Given the description of an element on the screen output the (x, y) to click on. 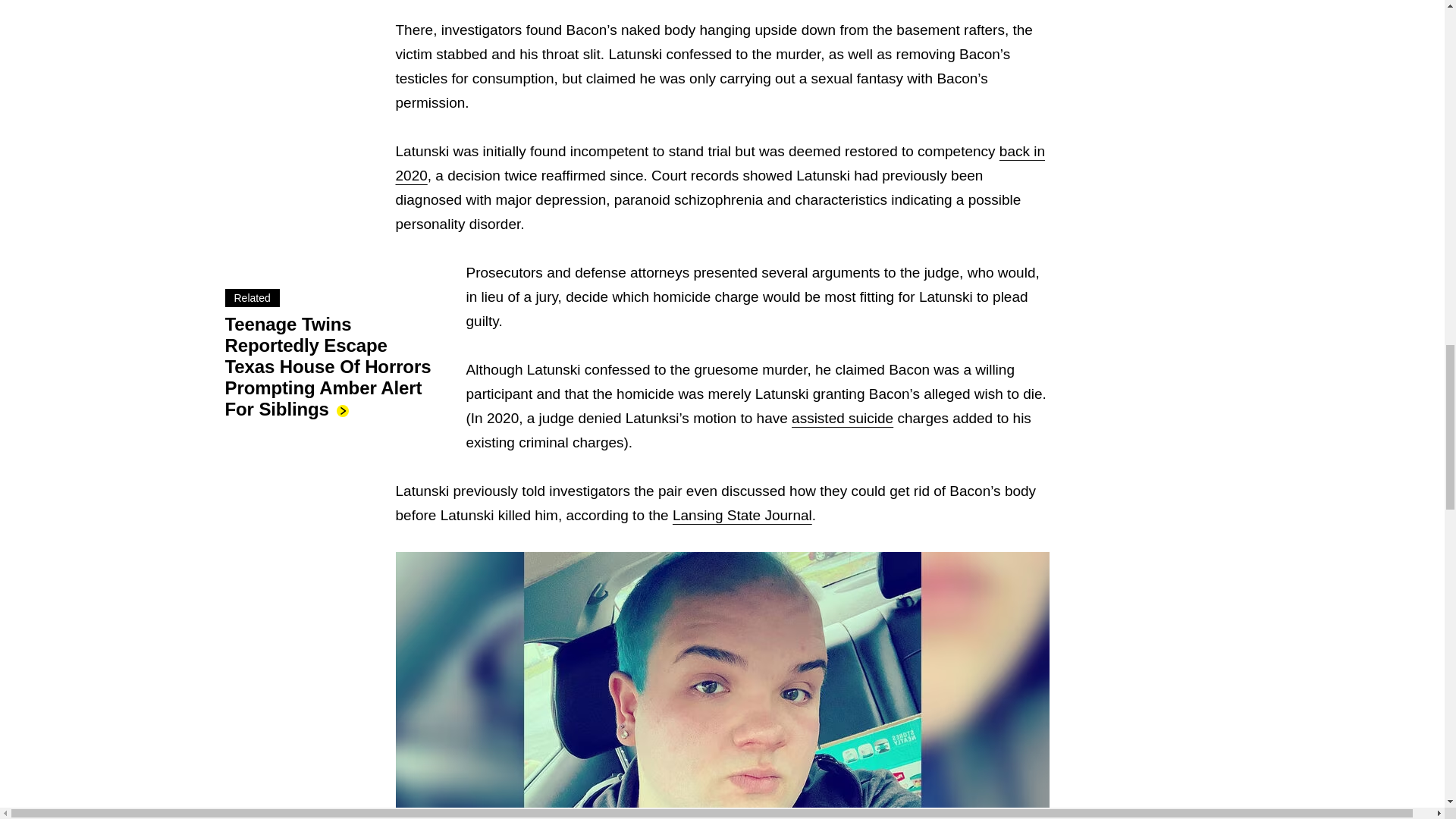
assisted suicide (842, 417)
Lansing State Journal (742, 514)
back in 2020 (720, 163)
